Given the description of an element on the screen output the (x, y) to click on. 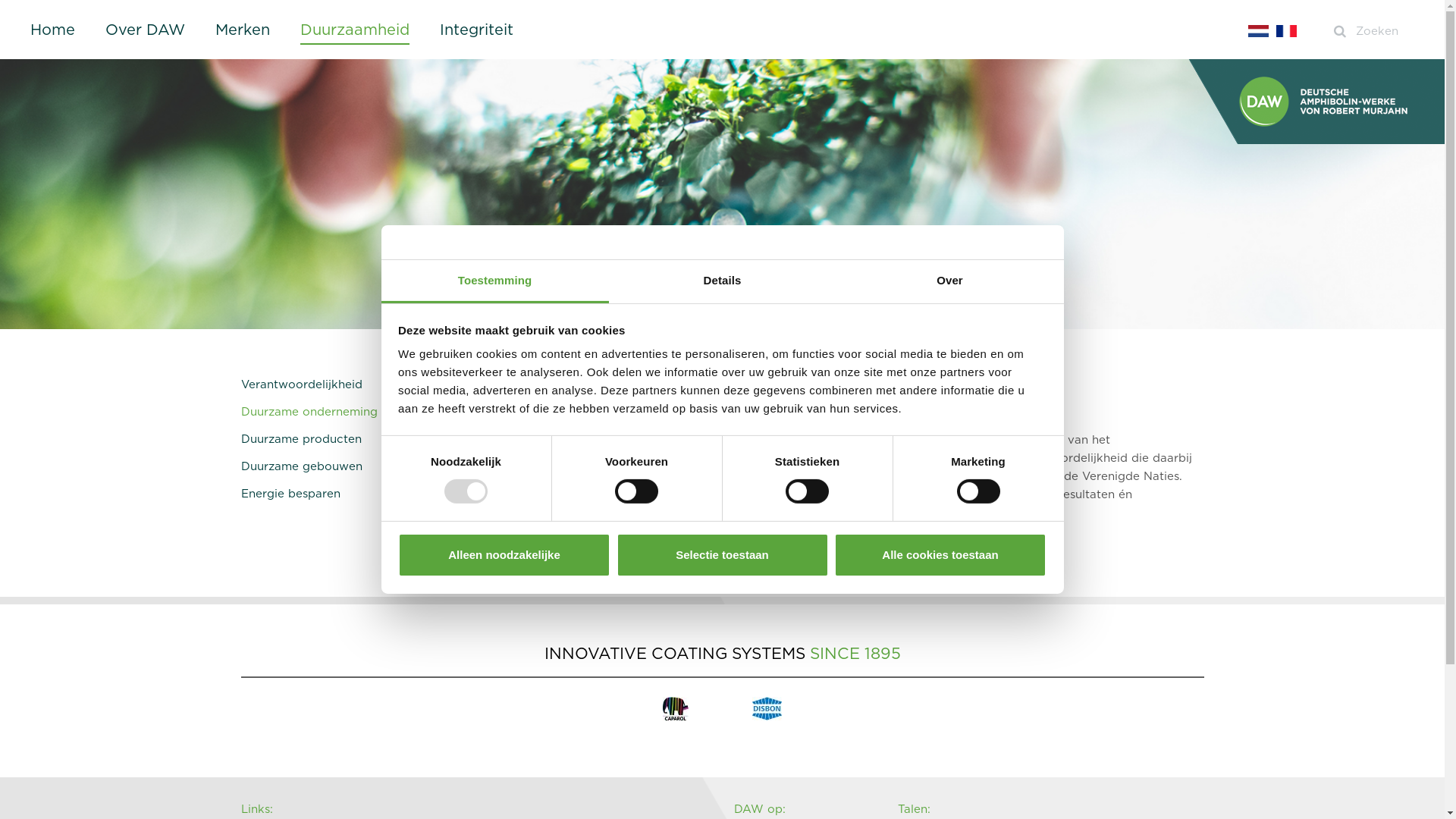
CAPAROL Element type: hover (675, 708)
Selectie toestaan Element type: text (721, 555)
Duurzame producten Element type: text (352, 438)
Duurzame gebouwen Element type: text (352, 466)
DISBON Element type: hover (766, 708)
Verantwoordelijkheid Element type: text (352, 384)
Home Element type: text (52, 29)
Duurzame onderneming Element type: text (352, 411)
Details Element type: text (721, 281)
Duurzaamheid Element type: text (354, 29)
Over Element type: text (949, 281)
Alleen noodzakelijke Element type: text (504, 555)
Alle cookies toestaan Element type: text (940, 555)
Integriteit Element type: text (476, 29)
Merken Element type: text (242, 29)
Energie besparen Element type: text (352, 493)
Toestemming Element type: text (494, 281)
DAW SE Element type: hover (1316, 101)
Over DAW Element type: text (145, 29)
